Given the description of an element on the screen output the (x, y) to click on. 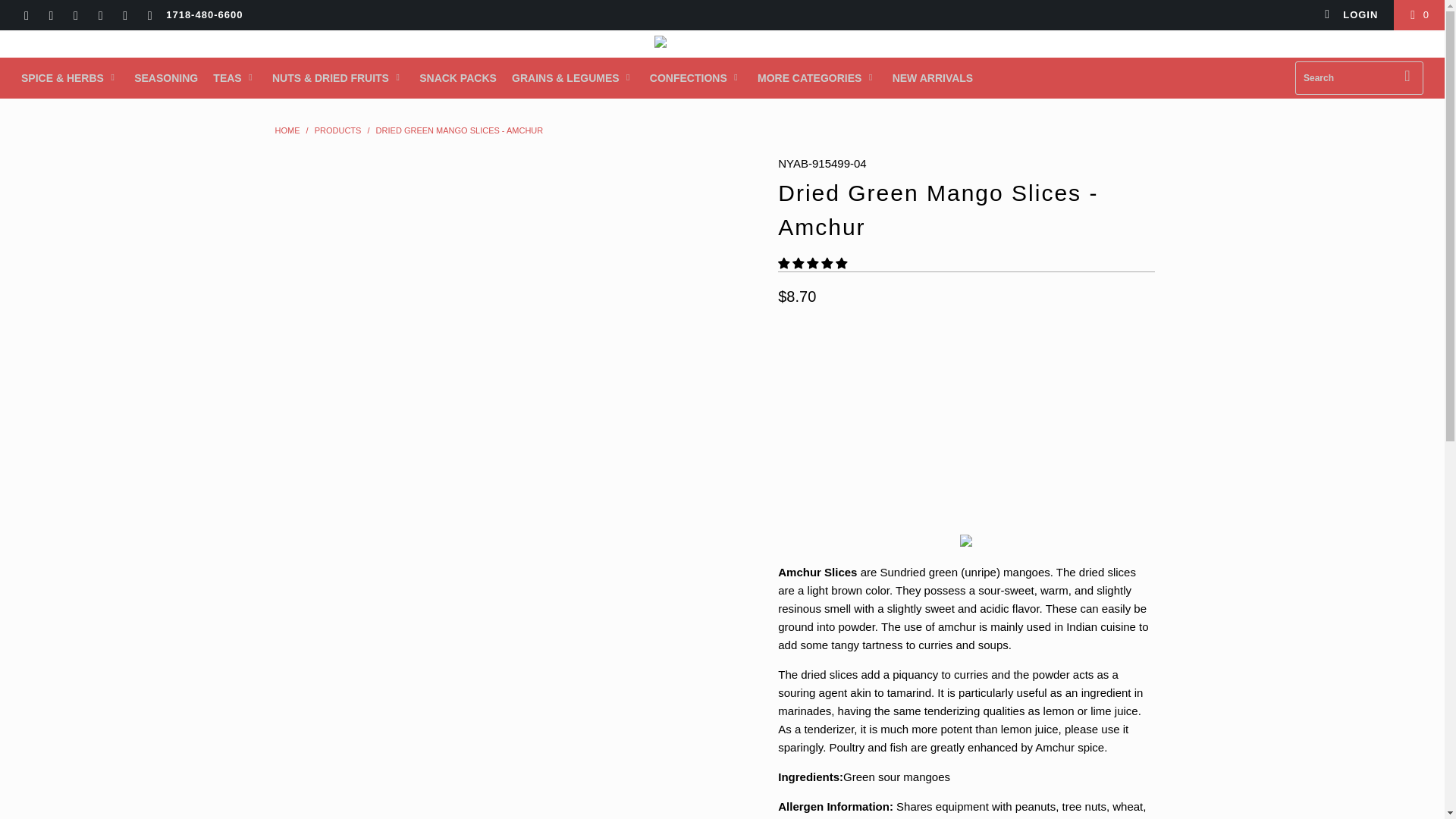
NY Spice Shop on Pinterest (99, 16)
Products (337, 130)
NY Spice Shop on Facebook (50, 16)
NY Spice Shop on Instagram (124, 16)
NY Spice Shop on Twitter (25, 16)
NY Spice Shop on YouTube (74, 16)
NY Spice Shop (287, 130)
Email NY Spice Shop (148, 16)
My Account  (1351, 15)
